Given the description of an element on the screen output the (x, y) to click on. 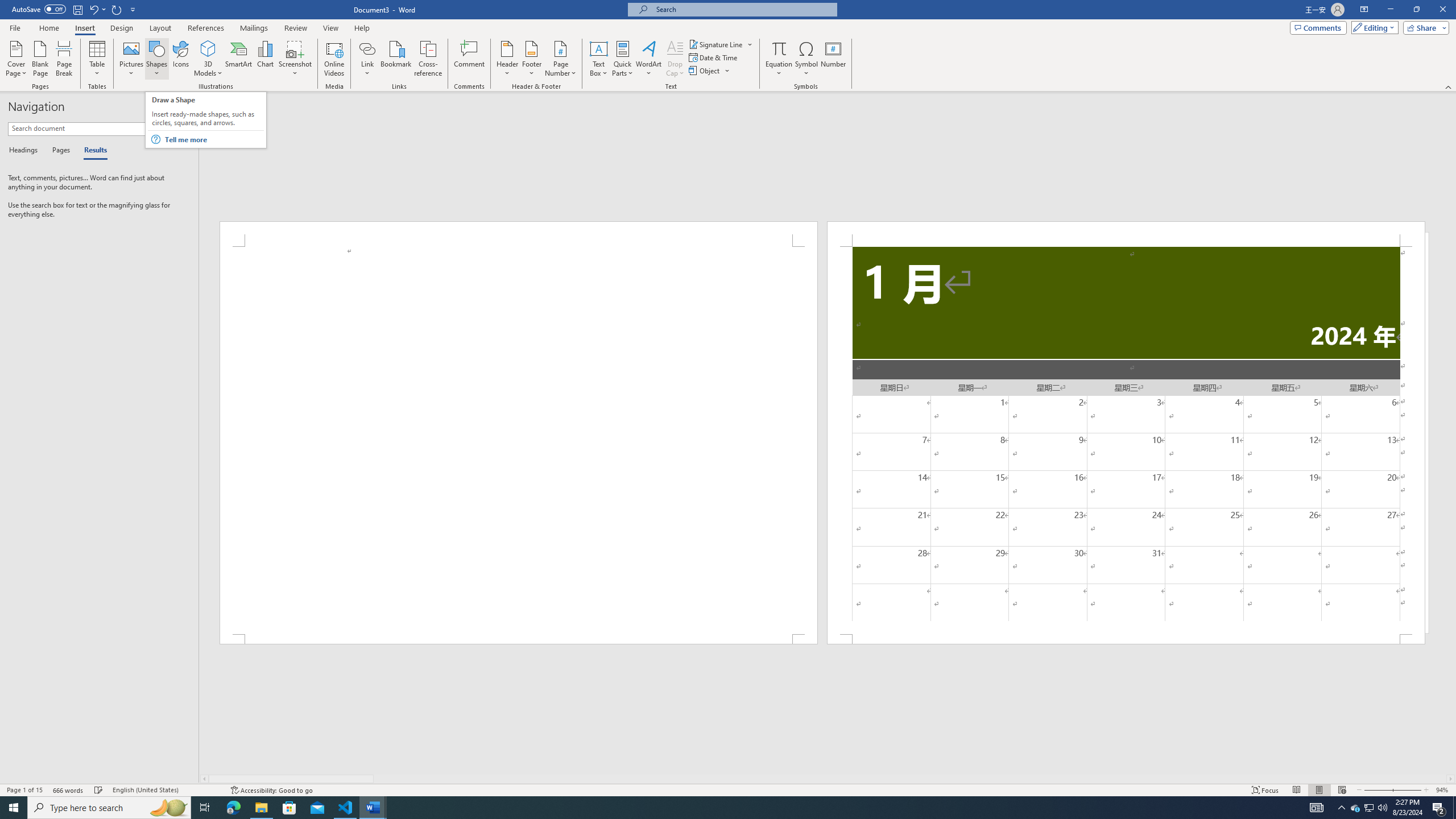
Table (97, 58)
Page Number Page 1 of 15 (24, 790)
Text Box (598, 58)
WordArt (648, 58)
Cover Page (16, 58)
Page Number (560, 58)
Symbol (806, 58)
